Given the description of an element on the screen output the (x, y) to click on. 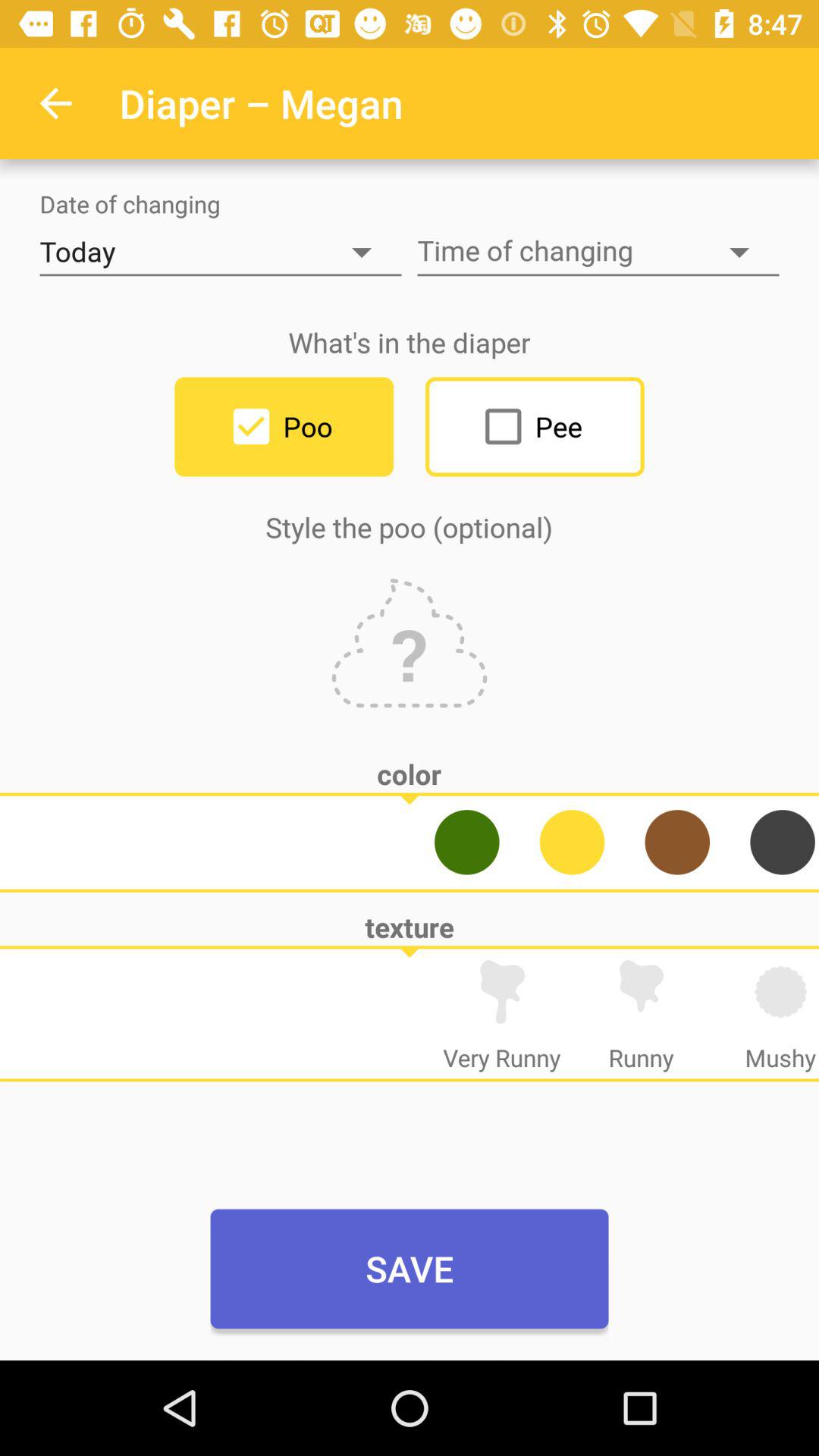
select green for poo (466, 842)
